Given the description of an element on the screen output the (x, y) to click on. 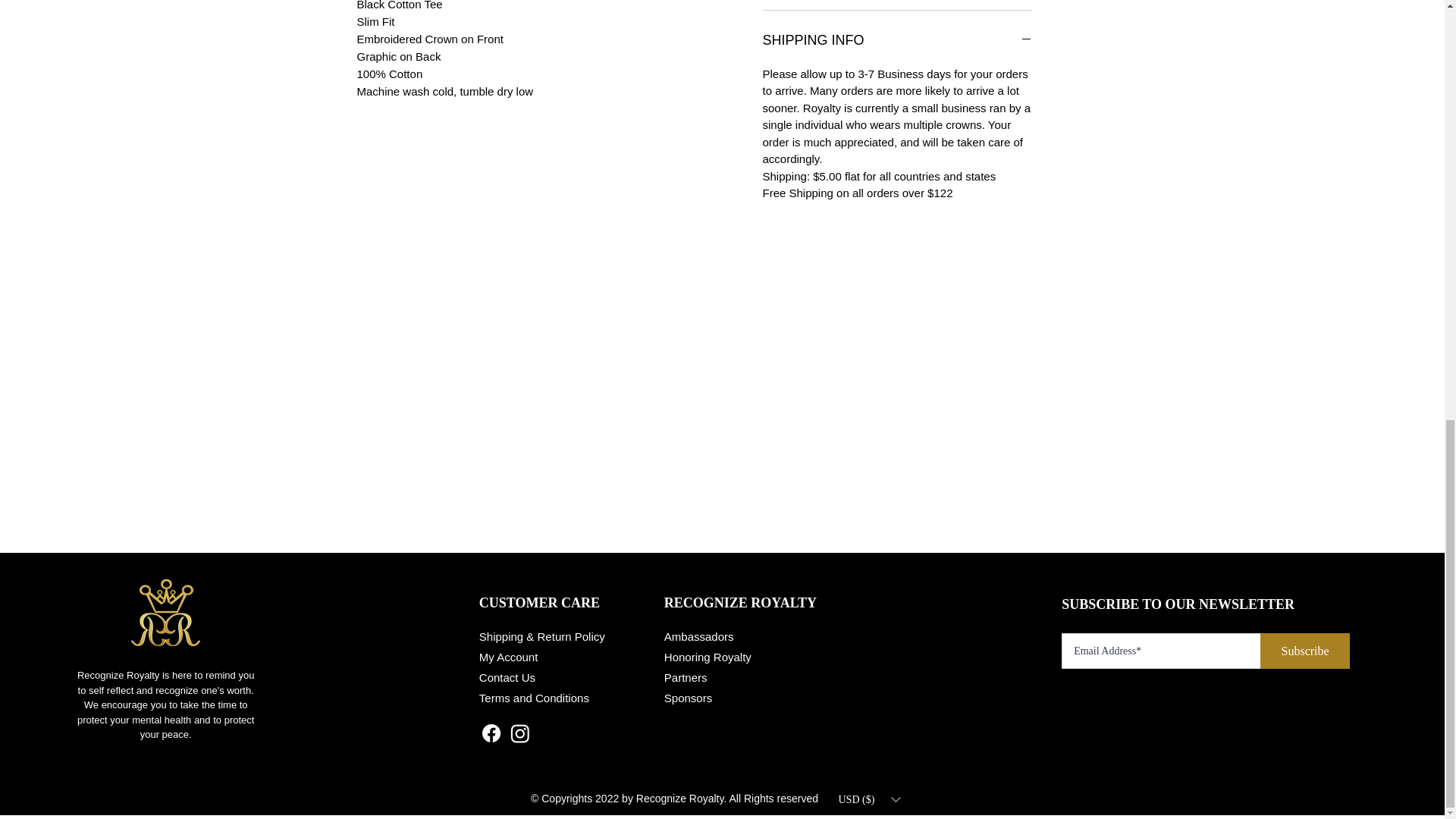
Honoring Royalty (707, 656)
Terms and Conditions (534, 697)
My Account (508, 656)
Partners (685, 676)
Sponsors (687, 697)
SHIPPING INFO (897, 40)
Ambassadors (698, 635)
Subscribe (1304, 651)
Contact Us (507, 676)
